Given the description of an element on the screen output the (x, y) to click on. 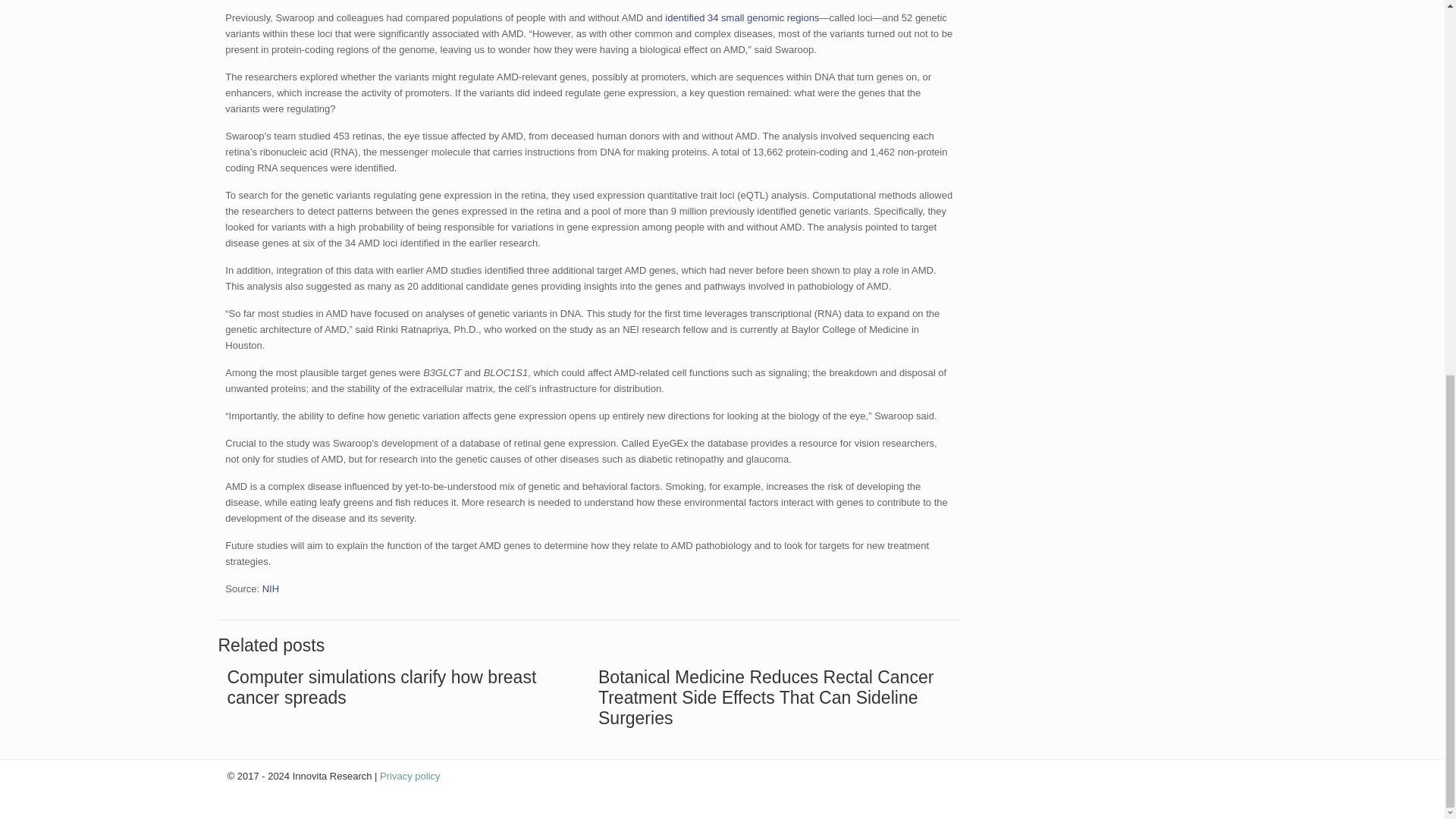
NIH (270, 588)
identified 34 small genomic regions (741, 17)
Computer simulations clarify how breast cancer spreads (382, 687)
